Given the description of an element on the screen output the (x, y) to click on. 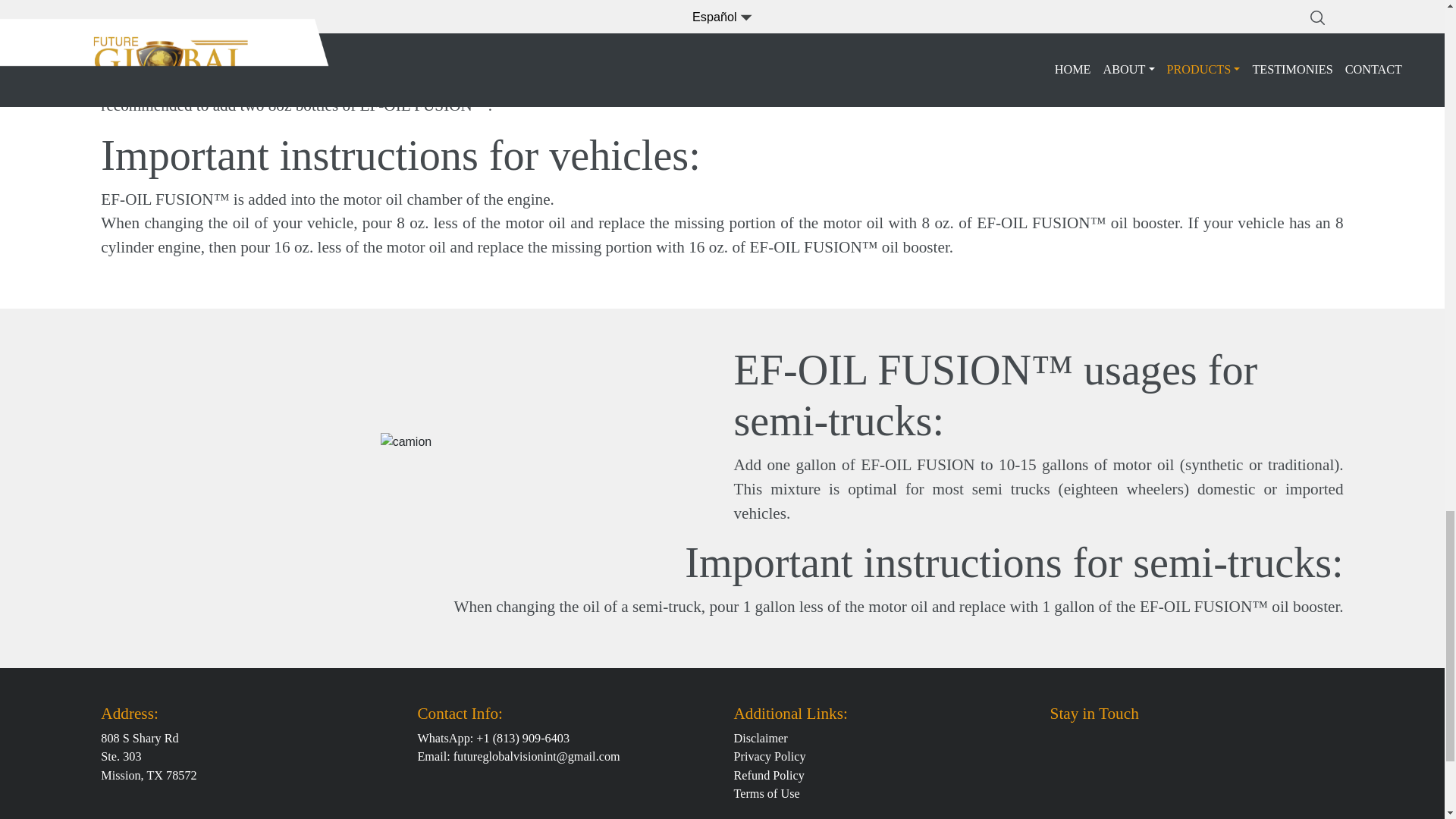
Terms of Use (766, 793)
Disclaimer (760, 738)
Refund Policy (769, 775)
Privacy Policy (769, 756)
